Given the description of an element on the screen output the (x, y) to click on. 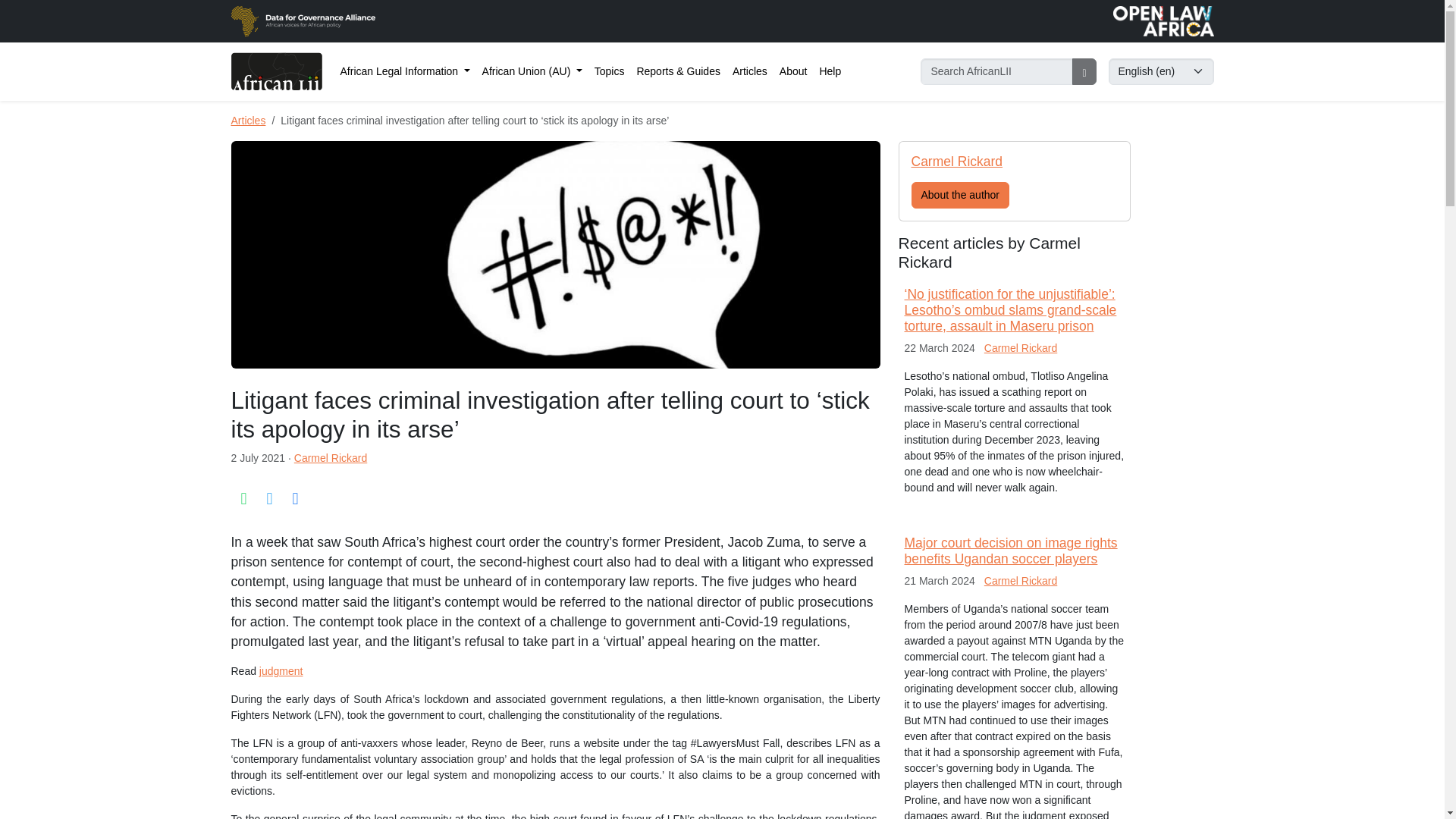
About (793, 71)
judgment (280, 671)
Carmel Rickard (1020, 580)
About the author (960, 194)
Topics (609, 71)
Carmel Rickard (1020, 347)
African Legal Information (404, 71)
Carmel Rickard (330, 458)
Carmel Rickard (957, 160)
